Given the description of an element on the screen output the (x, y) to click on. 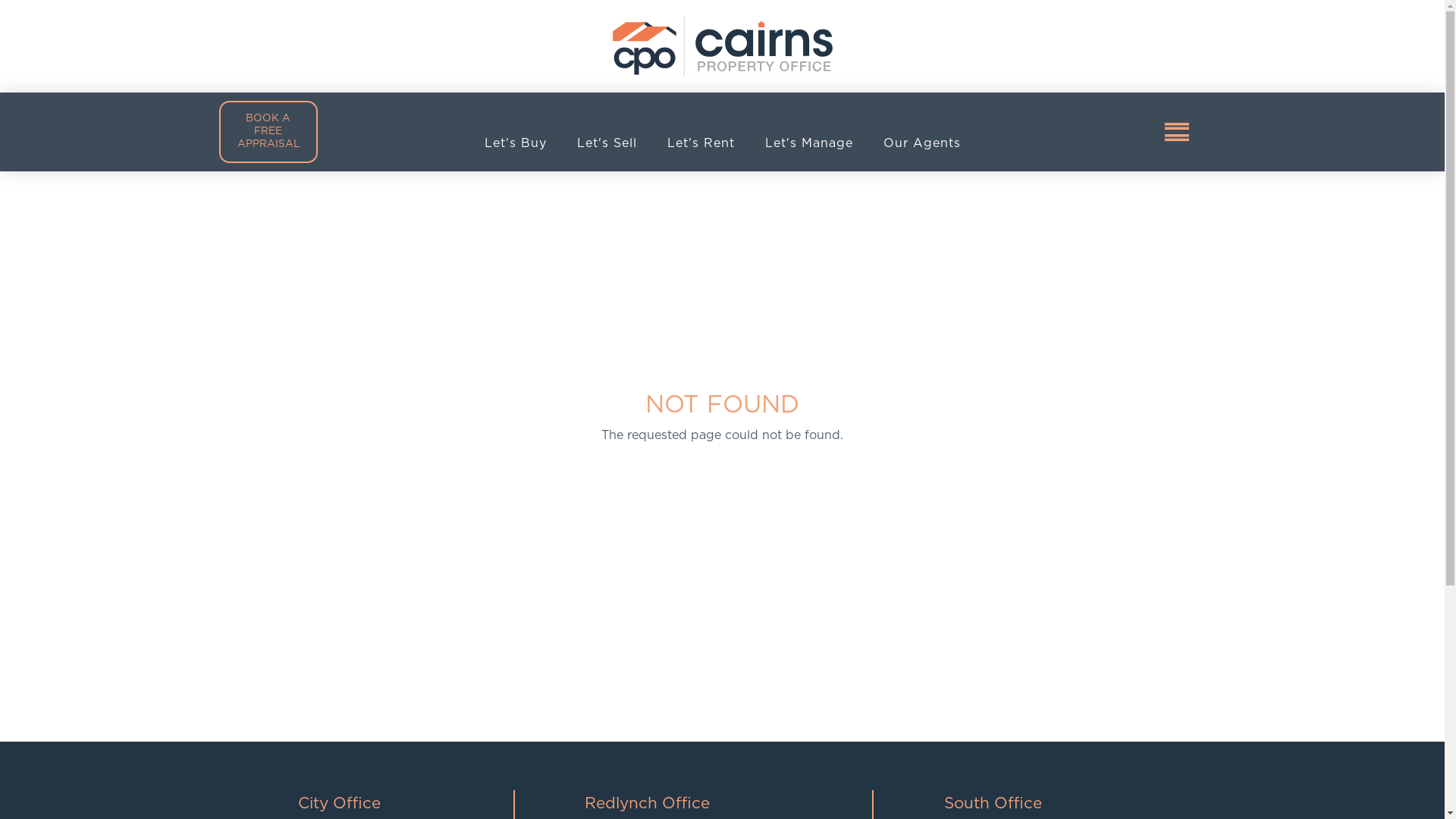
Let's Manage Element type: text (808, 143)
Let's Buy Element type: text (514, 143)
BOOK A FREE
APPRAISAL Element type: text (267, 131)
Our Agents Element type: text (921, 143)
Let's Sell Element type: text (606, 143)
Let's Rent Element type: text (700, 143)
